Given the description of an element on the screen output the (x, y) to click on. 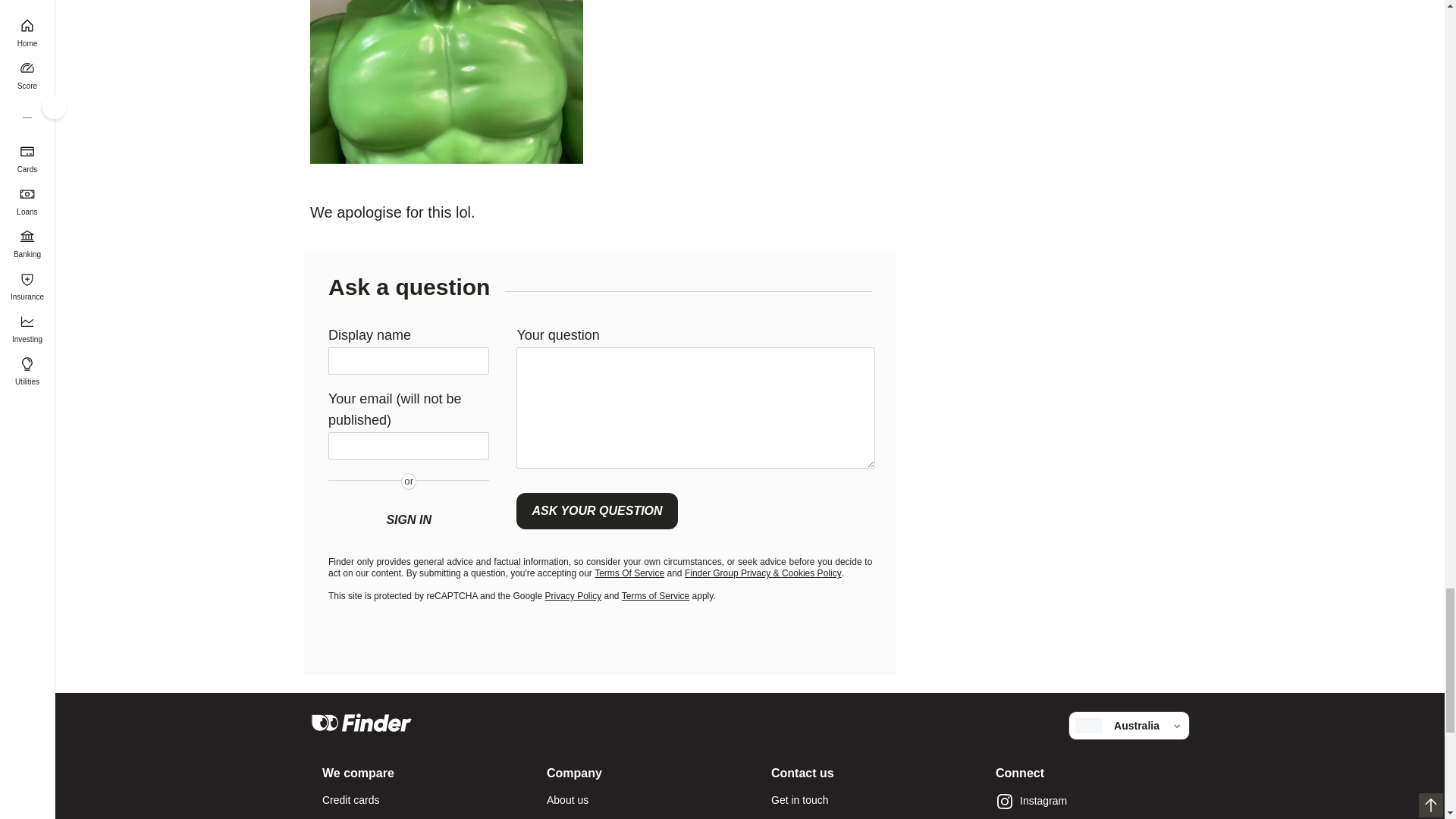
Image: Supplied (446, 81)
